Given the description of an element on the screen output the (x, y) to click on. 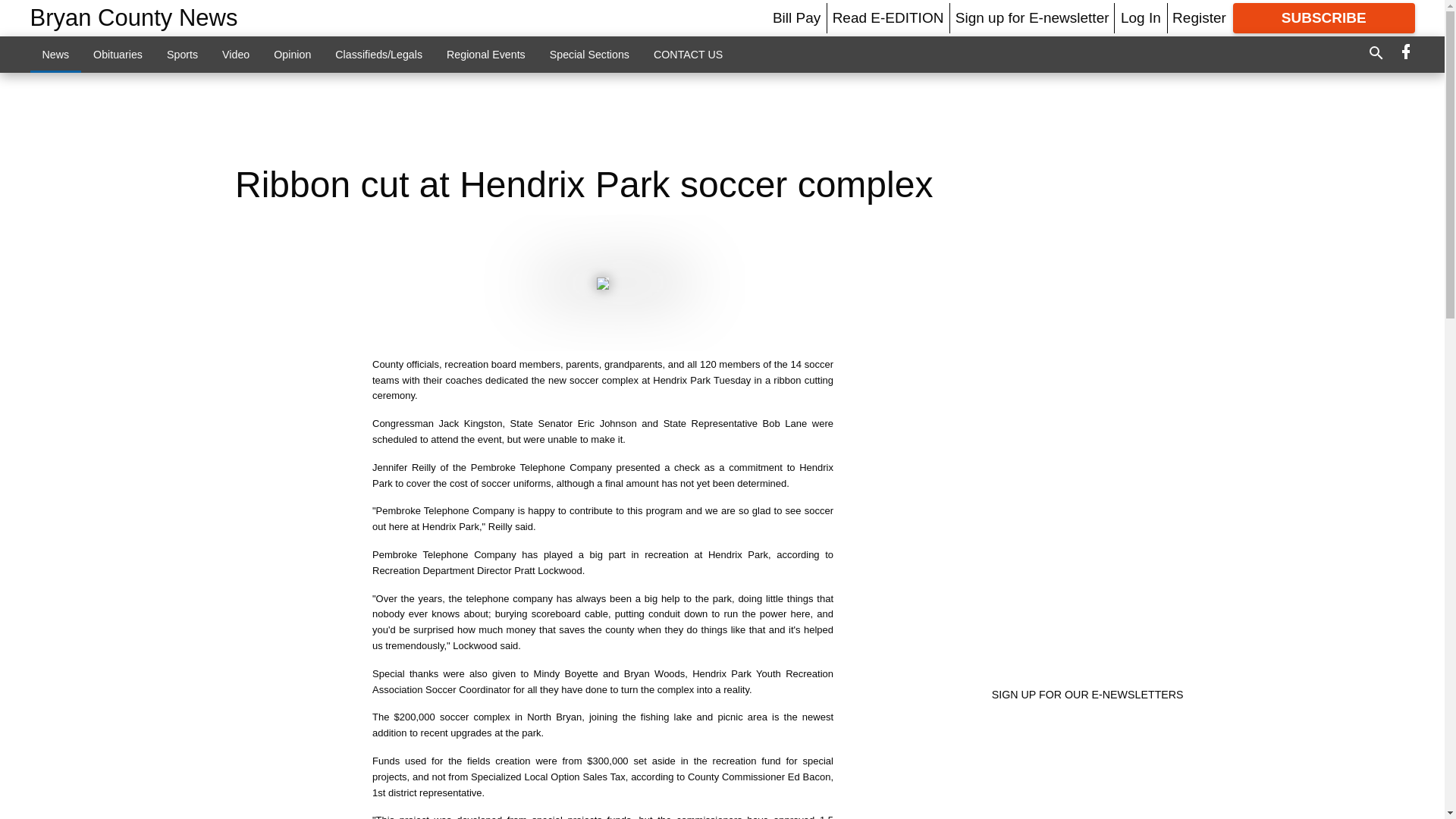
Obituaries (117, 54)
Regional Events (485, 54)
Bryan County News (134, 17)
Bill Pay (797, 17)
Special Sections (589, 54)
Log In (1140, 17)
CONTACT US (688, 54)
Opinion (292, 54)
News (55, 54)
Register (1198, 17)
Video (235, 54)
Sign up for E-newsletter (1032, 17)
Sports (181, 54)
Read E-EDITION (887, 17)
3rd party ad content (721, 119)
